Given the description of an element on the screen output the (x, y) to click on. 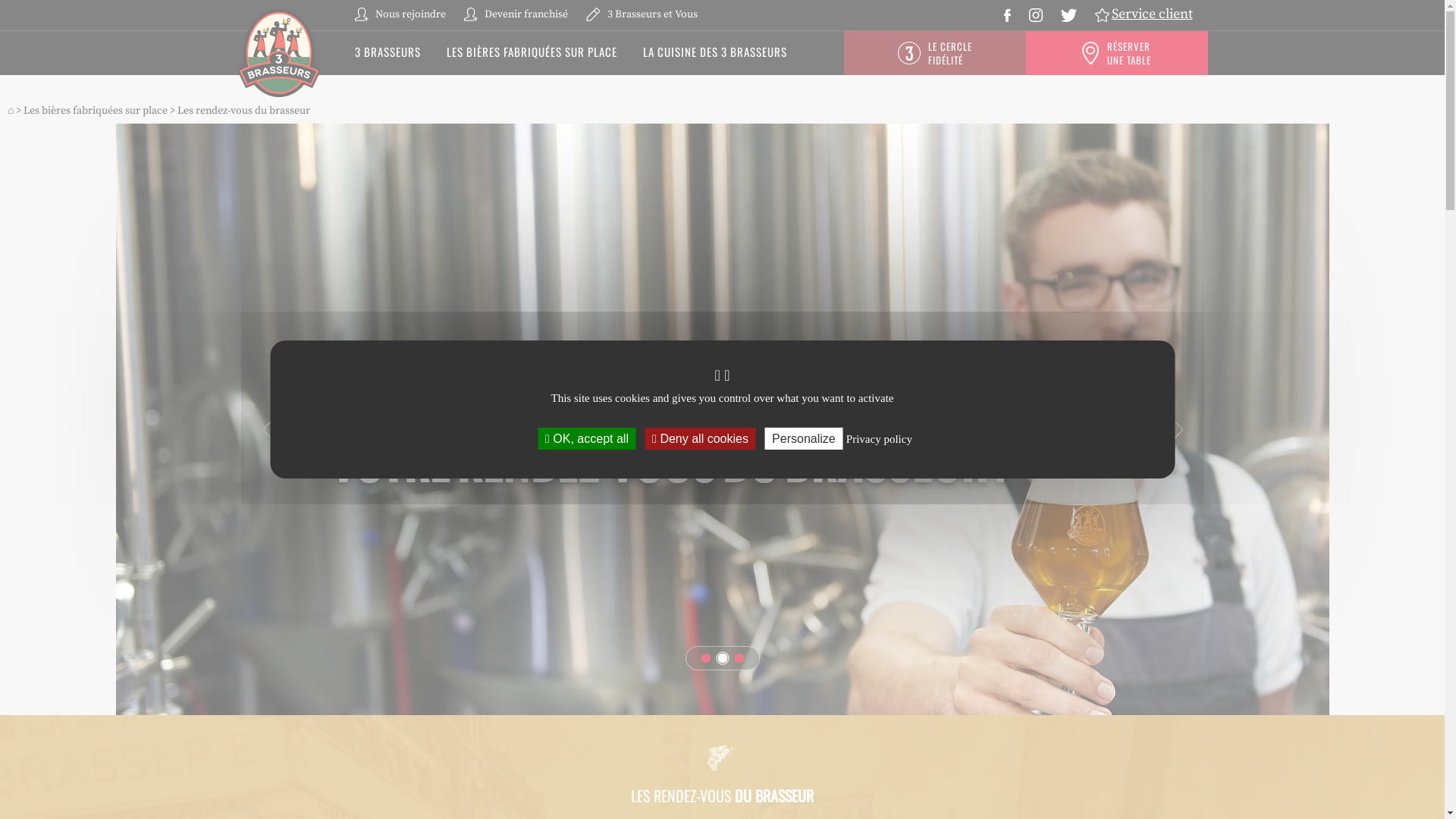
3 Element type: text (738, 657)
Facebook Element type: hover (1007, 13)
2 Element type: text (721, 657)
Service client Element type: text (1143, 13)
twitter Element type: hover (1068, 13)
3 Brasseurs et Vous Element type: text (640, 13)
Nous rejoindre Element type: text (399, 13)
1 Element type: text (704, 657)
3 BRASSEURS Element type: text (387, 51)
LA CUISINE DES 3 BRASSEURS Element type: text (715, 51)
Les rendez-vous du brasseur Element type: text (243, 110)
Instagram Element type: hover (1034, 13)
3 Brasseurs Element type: hover (278, 53)
